Given the description of an element on the screen output the (x, y) to click on. 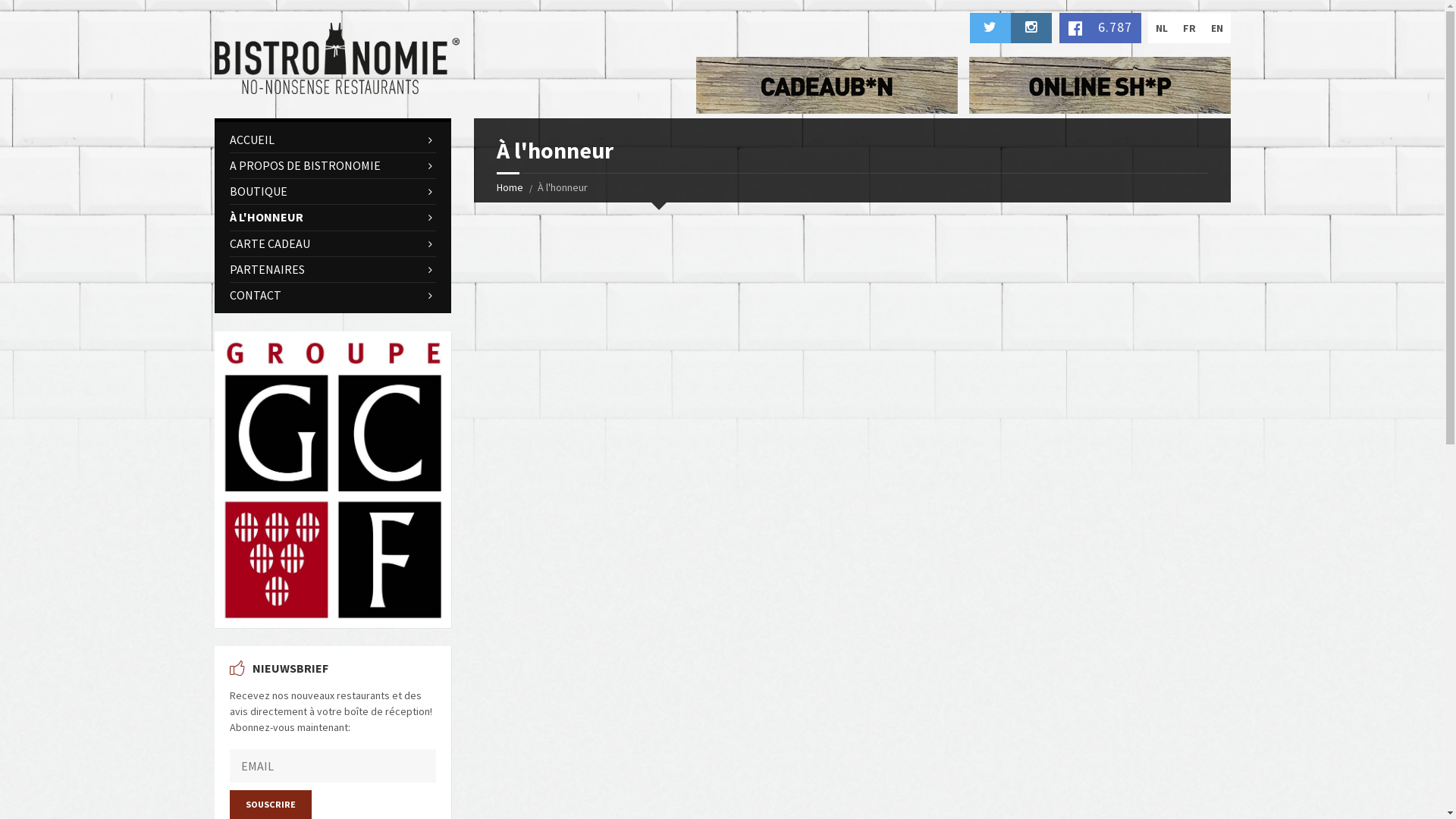
6.787 Element type: text (1099, 27)
FR Element type: text (1189, 27)
Home Element type: text (509, 187)
CARTE CADEAU Element type: text (332, 243)
BOUTIQUE Element type: text (332, 190)
NL Element type: text (1161, 27)
A PROPOS DE BISTRONOMIE Element type: text (332, 165)
CONTACT Element type: text (332, 294)
EN Element type: text (1216, 27)
ACCUEIL Element type: text (332, 139)
PARTENAIRES Element type: text (332, 269)
